Given the description of an element on the screen output the (x, y) to click on. 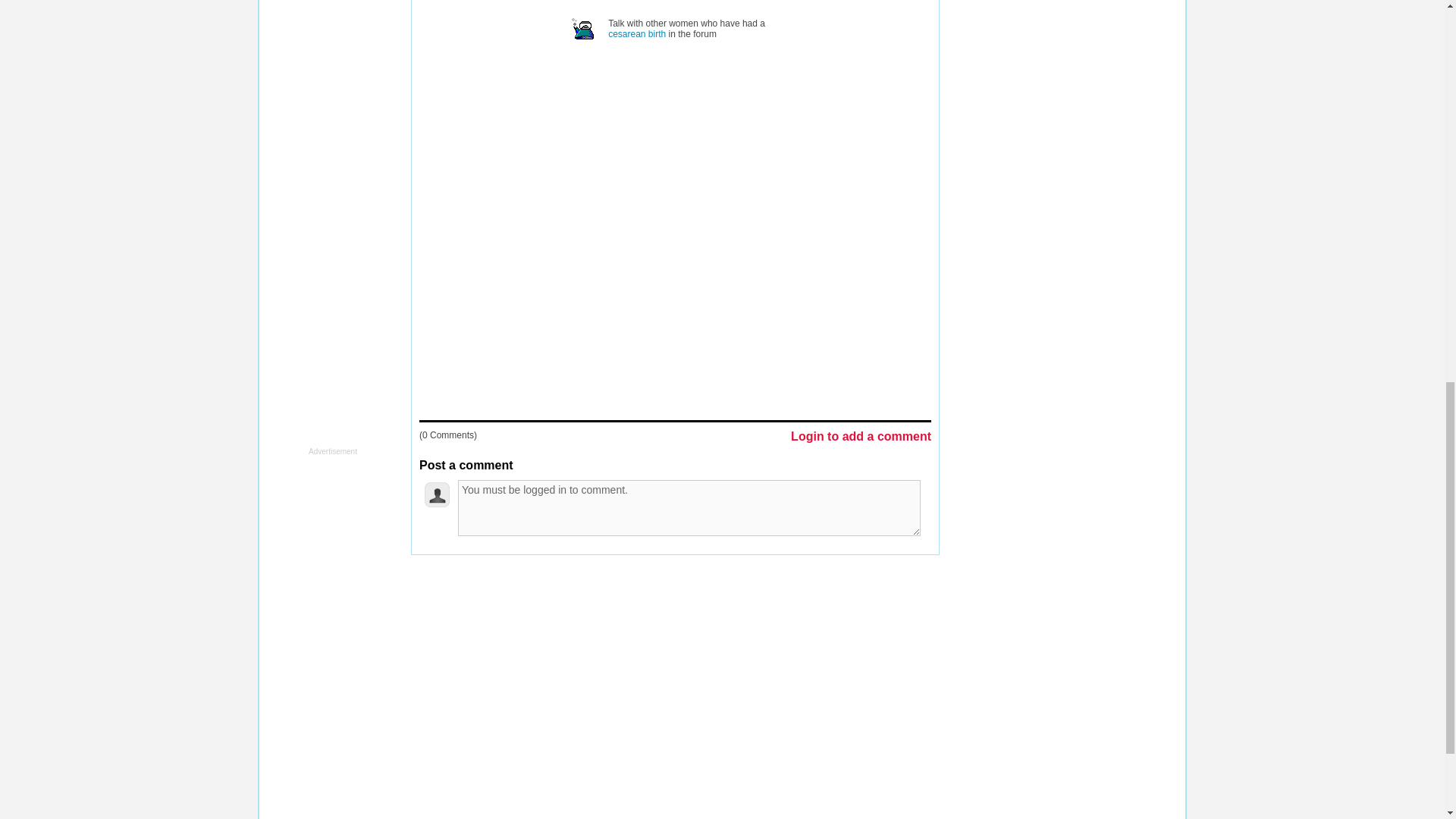
Login to add a comment (860, 437)
cesarean birth (636, 33)
LOG IN (600, 585)
